Given the description of an element on the screen output the (x, y) to click on. 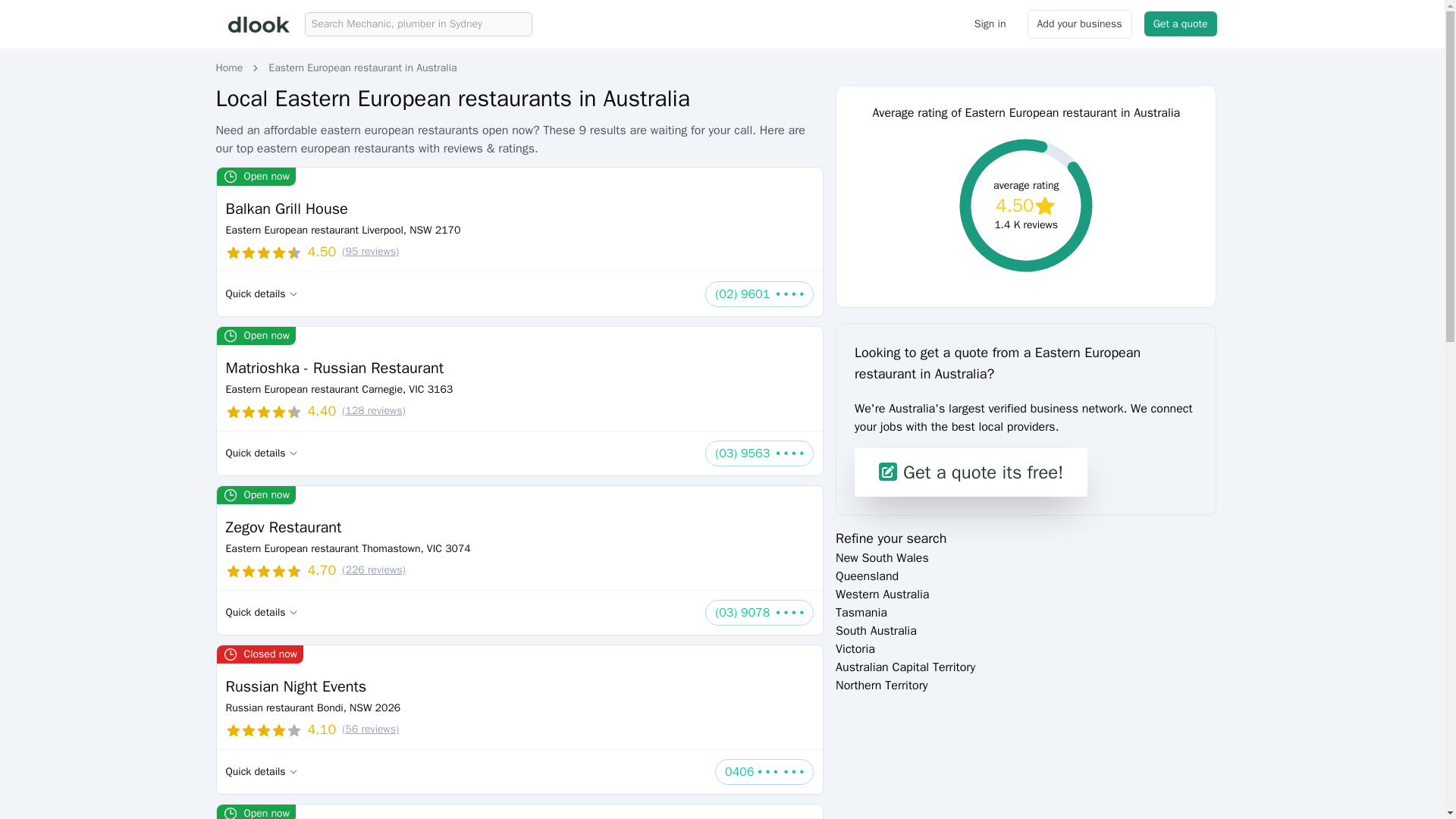
Eastern European restaurant in Australia (362, 68)
Sign in (989, 23)
Queensland (866, 575)
South Australia (876, 630)
Western Australia (881, 594)
Home (229, 68)
Get a quote its free! (970, 471)
Get a quote (1180, 23)
Add your business (1079, 23)
Tasmania (860, 612)
New South Wales (881, 557)
